Given the description of an element on the screen output the (x, y) to click on. 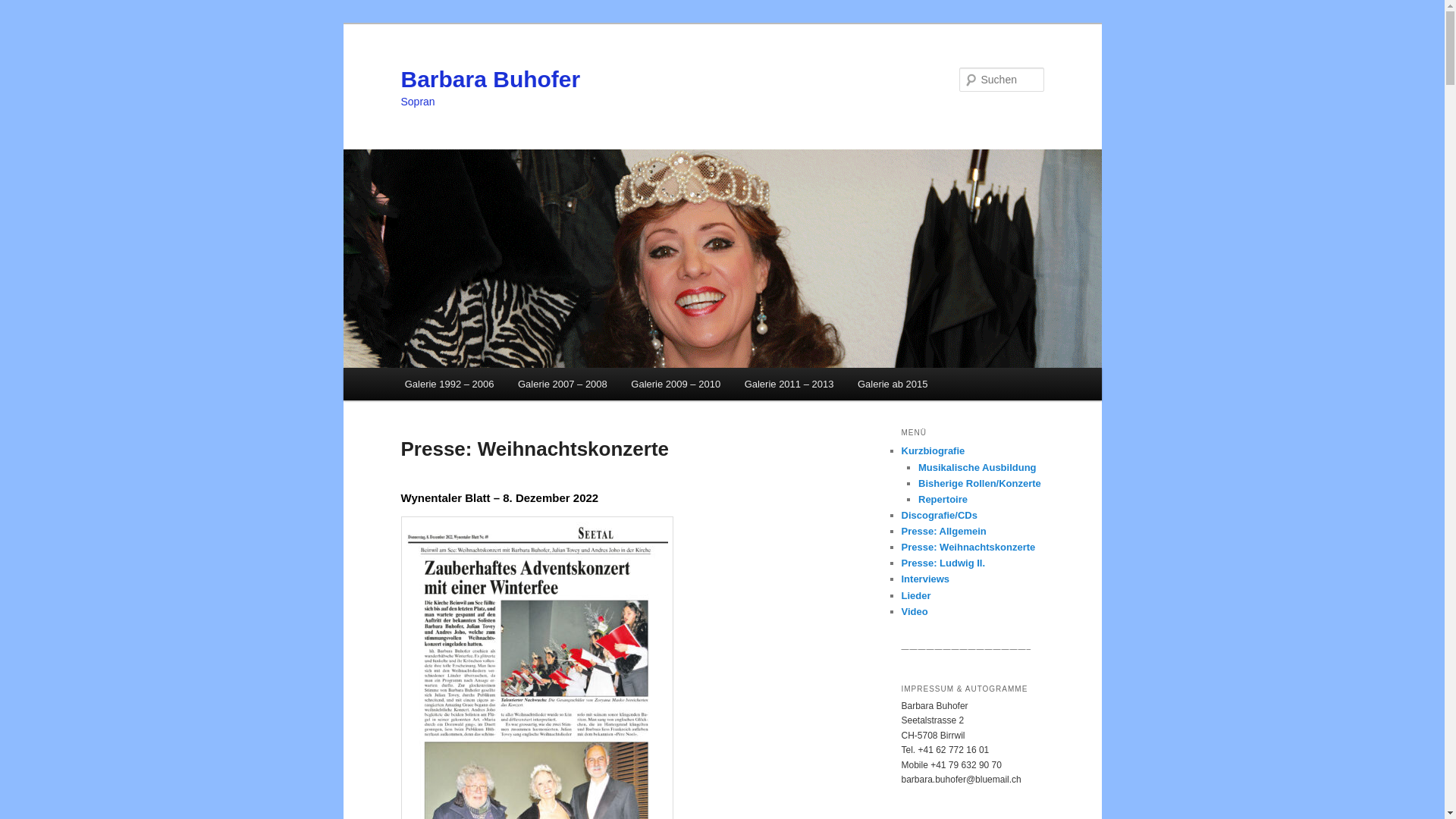
Discografie/CDs Element type: text (938, 514)
Lieder Element type: text (915, 595)
Presse: Weihnachtskonzerte Element type: text (967, 546)
Kurzbiografie Element type: text (932, 450)
Interviews Element type: text (924, 578)
Video Element type: text (913, 611)
Presse: Allgemein Element type: text (942, 530)
Bisherige Rollen/Konzerte Element type: text (979, 483)
Galerie ab 2015 Element type: text (892, 383)
Presse: Ludwig II. Element type: text (942, 562)
Musikalische Ausbildung Element type: text (977, 467)
Zum Inhalt wechseln Element type: text (22, 22)
Barbara Buhofer Element type: text (490, 78)
Suchen Element type: text (25, 8)
Repertoire Element type: text (942, 499)
